Given the description of an element on the screen output the (x, y) to click on. 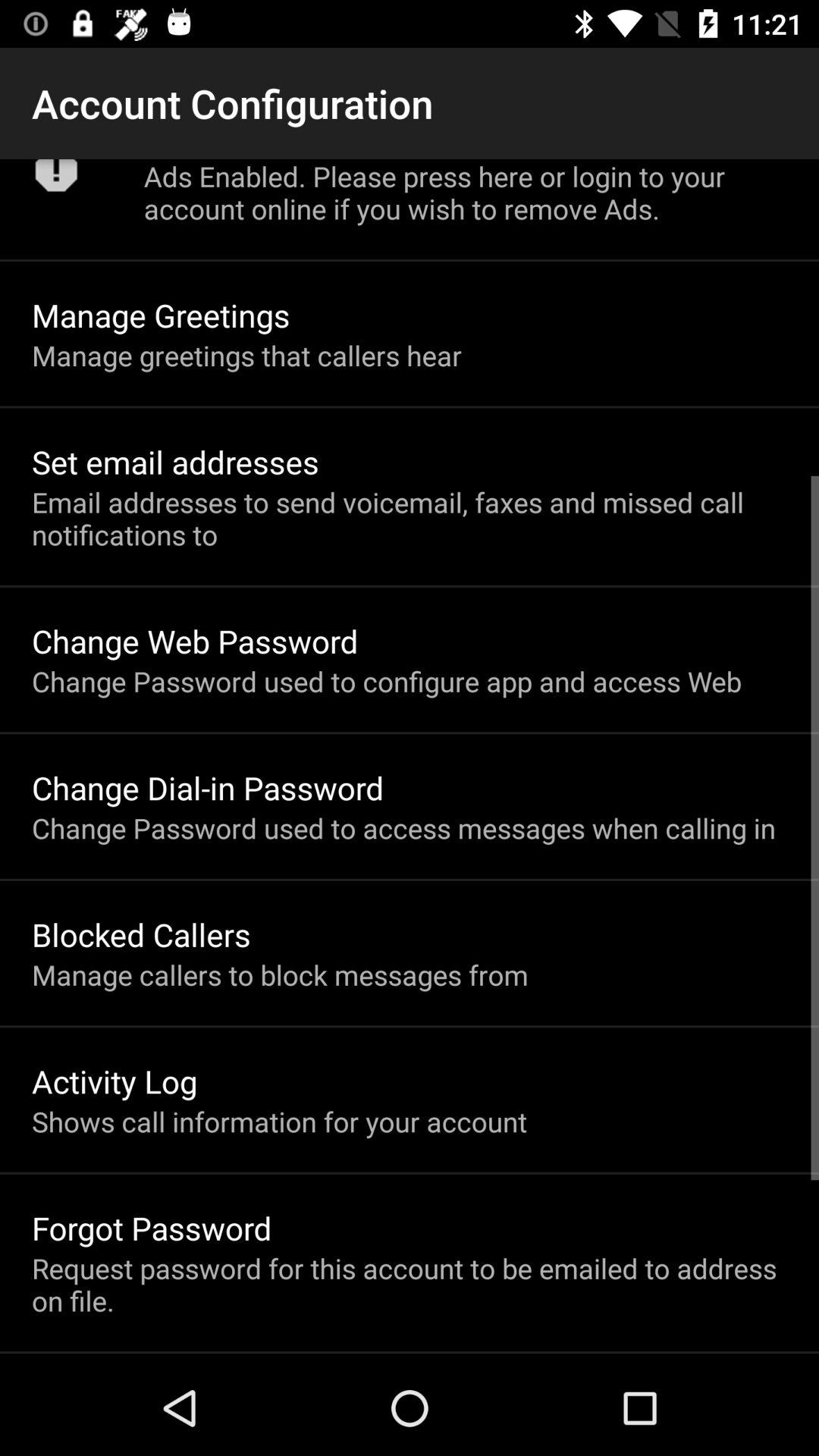
turn on app below the account configuration (56, 180)
